Given the description of an element on the screen output the (x, y) to click on. 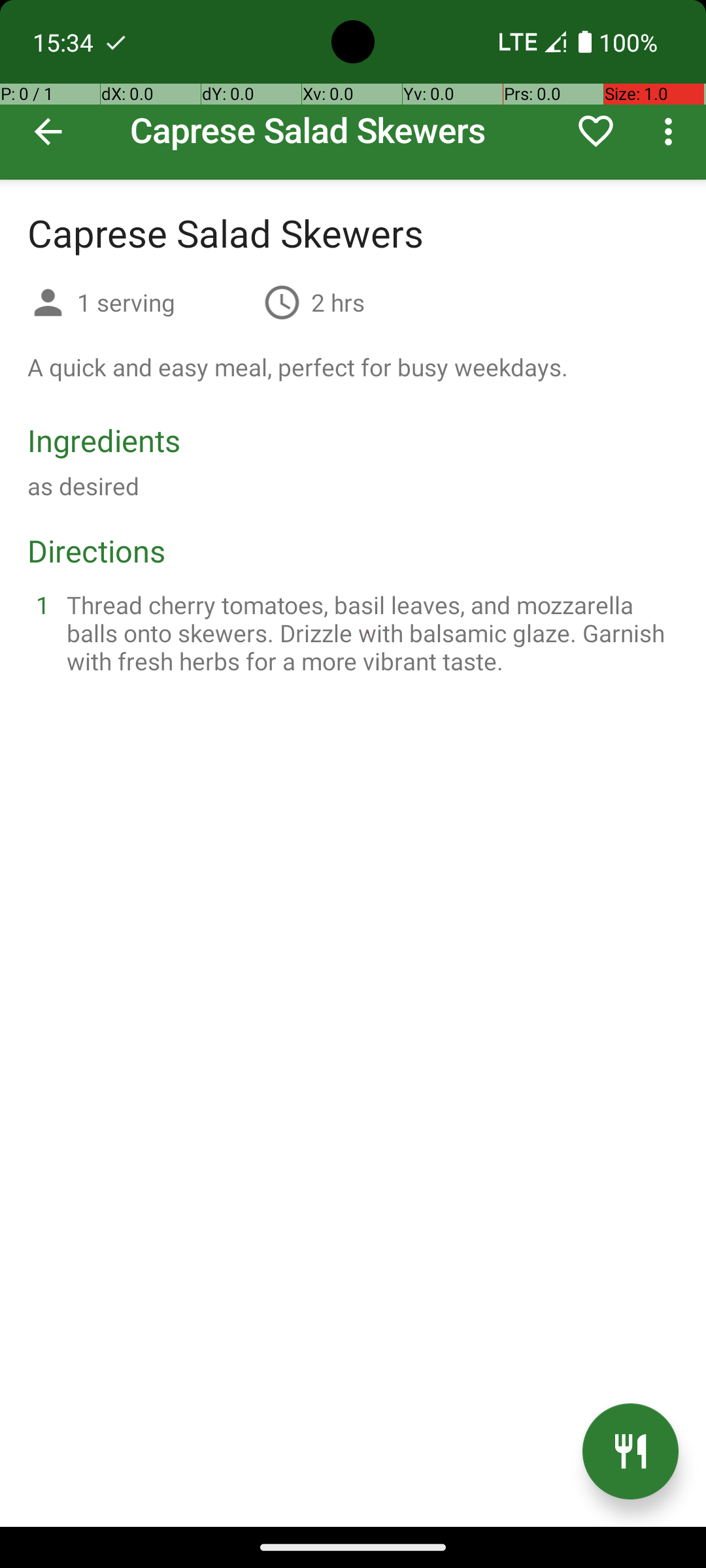
Thread cherry tomatoes, basil leaves, and mozzarella balls onto skewers. Drizzle with balsamic glaze. Garnish with fresh herbs for a more vibrant taste. Element type: android.widget.TextView (368, 632)
